Given the description of an element on the screen output the (x, y) to click on. 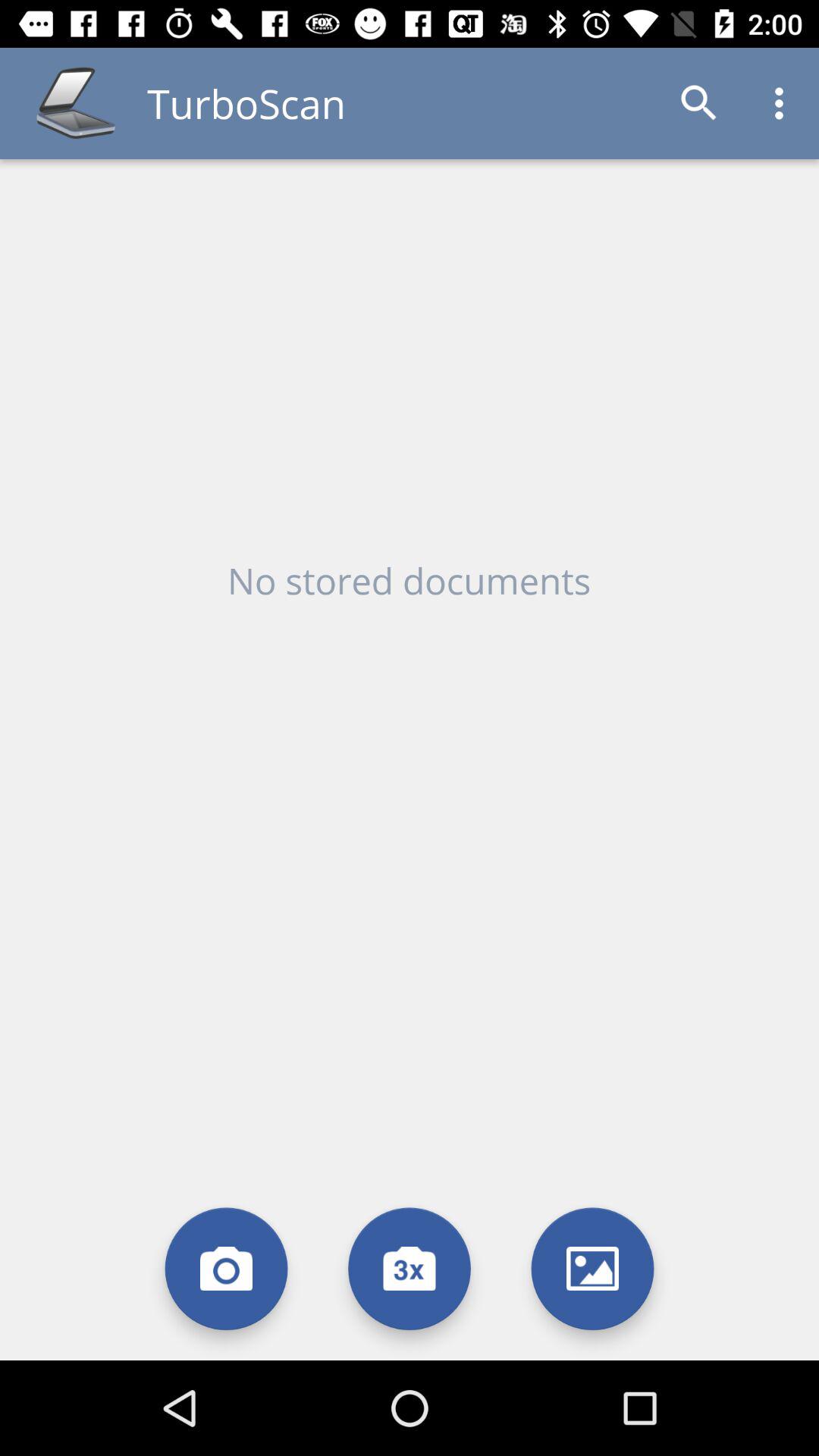
tap icon below no stored documents item (409, 1268)
